Given the description of an element on the screen output the (x, y) to click on. 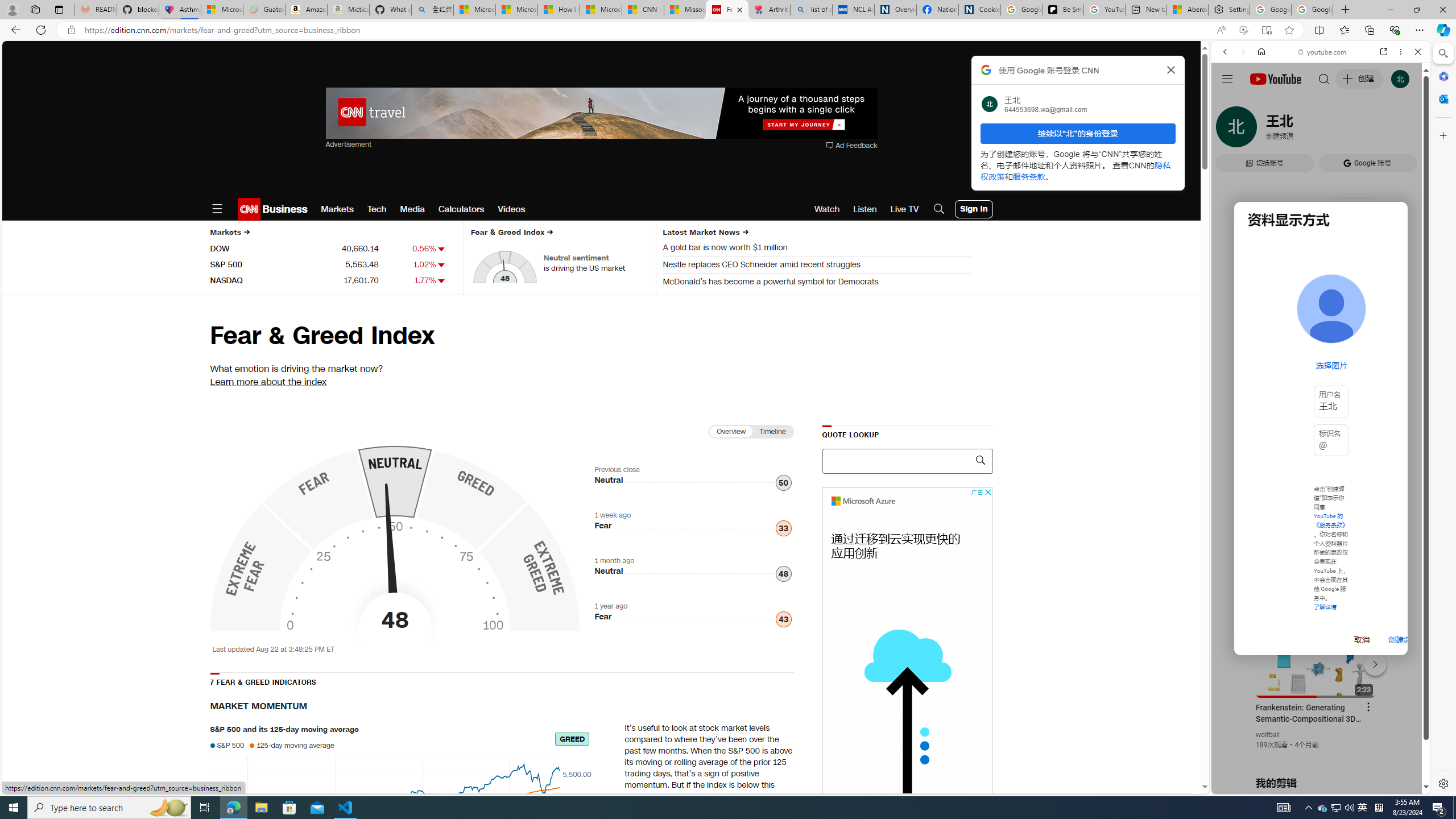
Preferences (1403, 129)
Search Filter, Search Tools (1350, 129)
Class: icon-ui-search (979, 459)
Search Filter, VIDEOS (1300, 129)
Music (1320, 309)
AutomationID: aw0 (600, 113)
YouTube - YouTube (1315, 560)
